Given the description of an element on the screen output the (x, y) to click on. 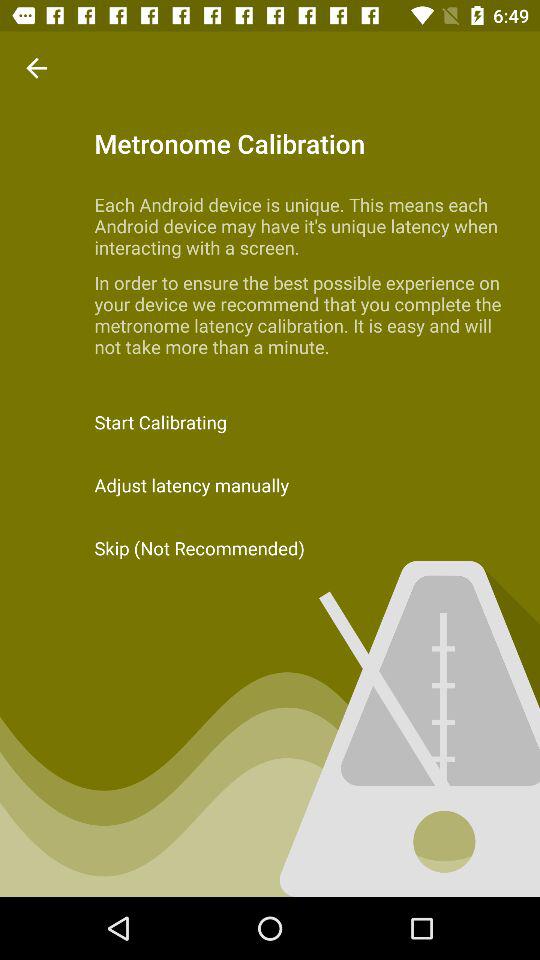
open adjust latency manually item (270, 484)
